Given the description of an element on the screen output the (x, y) to click on. 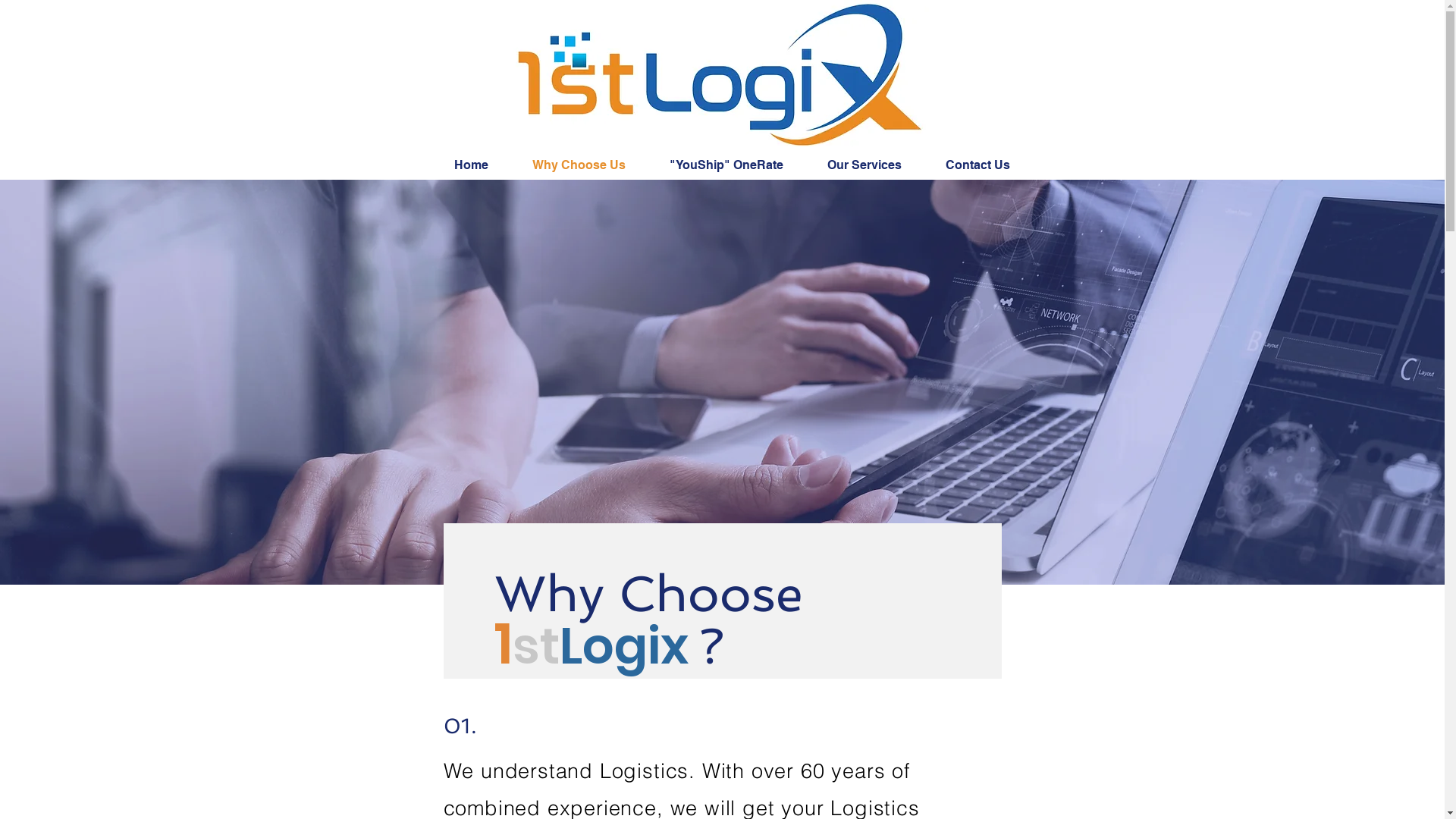
Have a Great Day :) Element type: hover (709, 73)
Why Choose Us Element type: text (588, 164)
"YouShip" OneRate Element type: text (736, 164)
Our Services Element type: text (874, 164)
Home Element type: text (481, 164)
Contact Us Element type: text (987, 164)
